Given the description of an element on the screen output the (x, y) to click on. 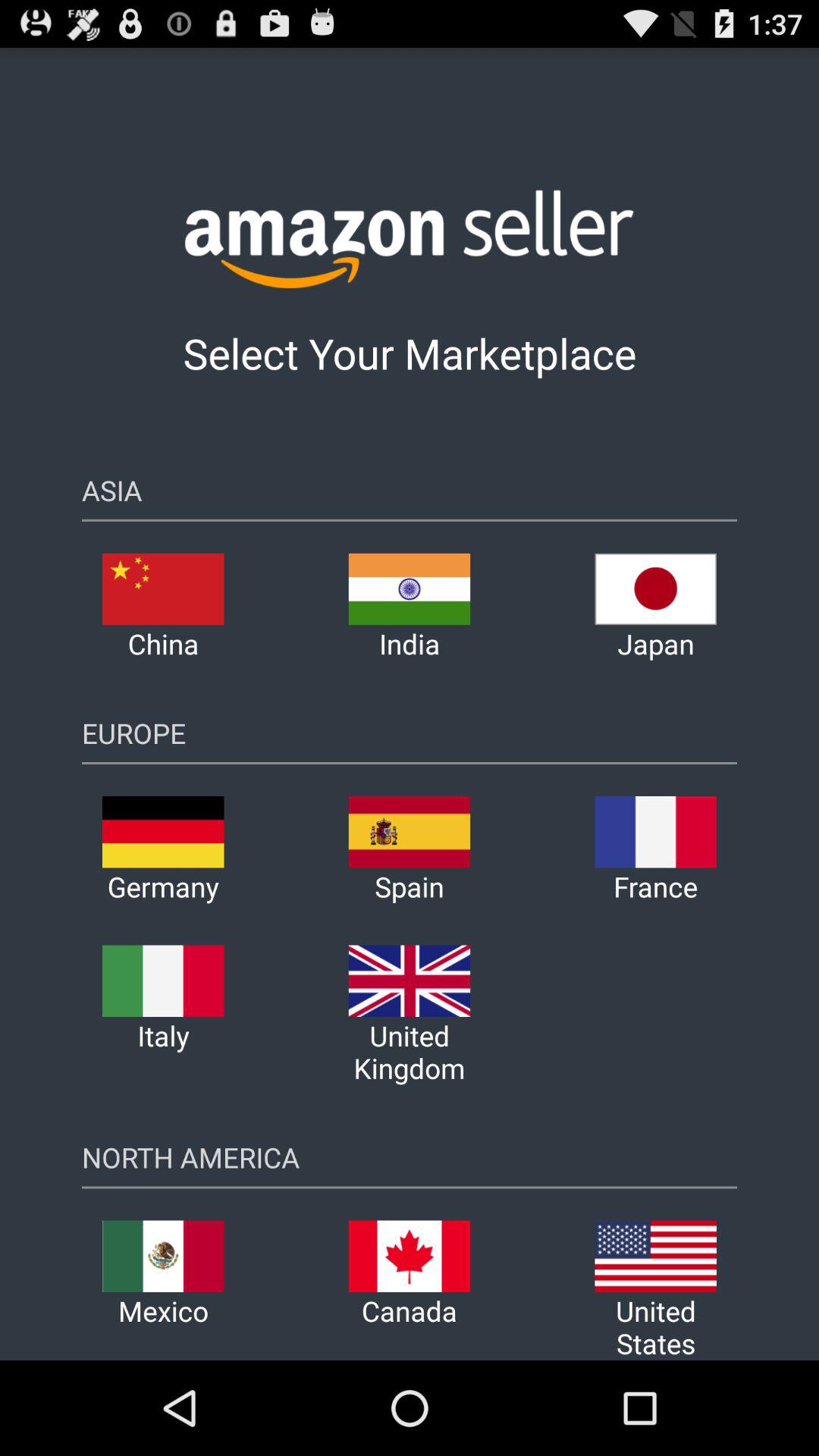
click on the image above italy (162, 970)
